Given the description of an element on the screen output the (x, y) to click on. 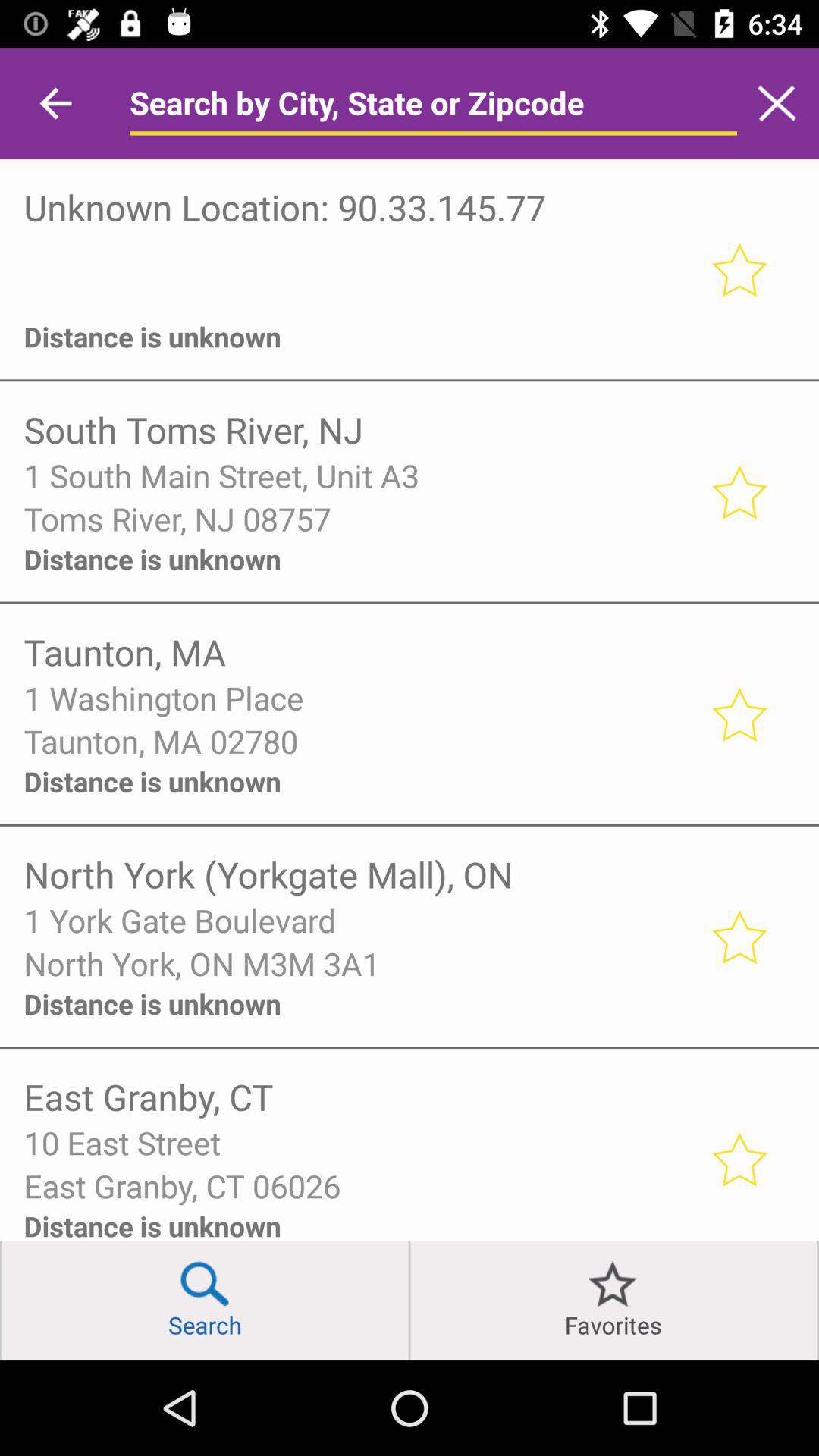
open the icon below east granby, ct (356, 1142)
